Given the description of an element on the screen output the (x, y) to click on. 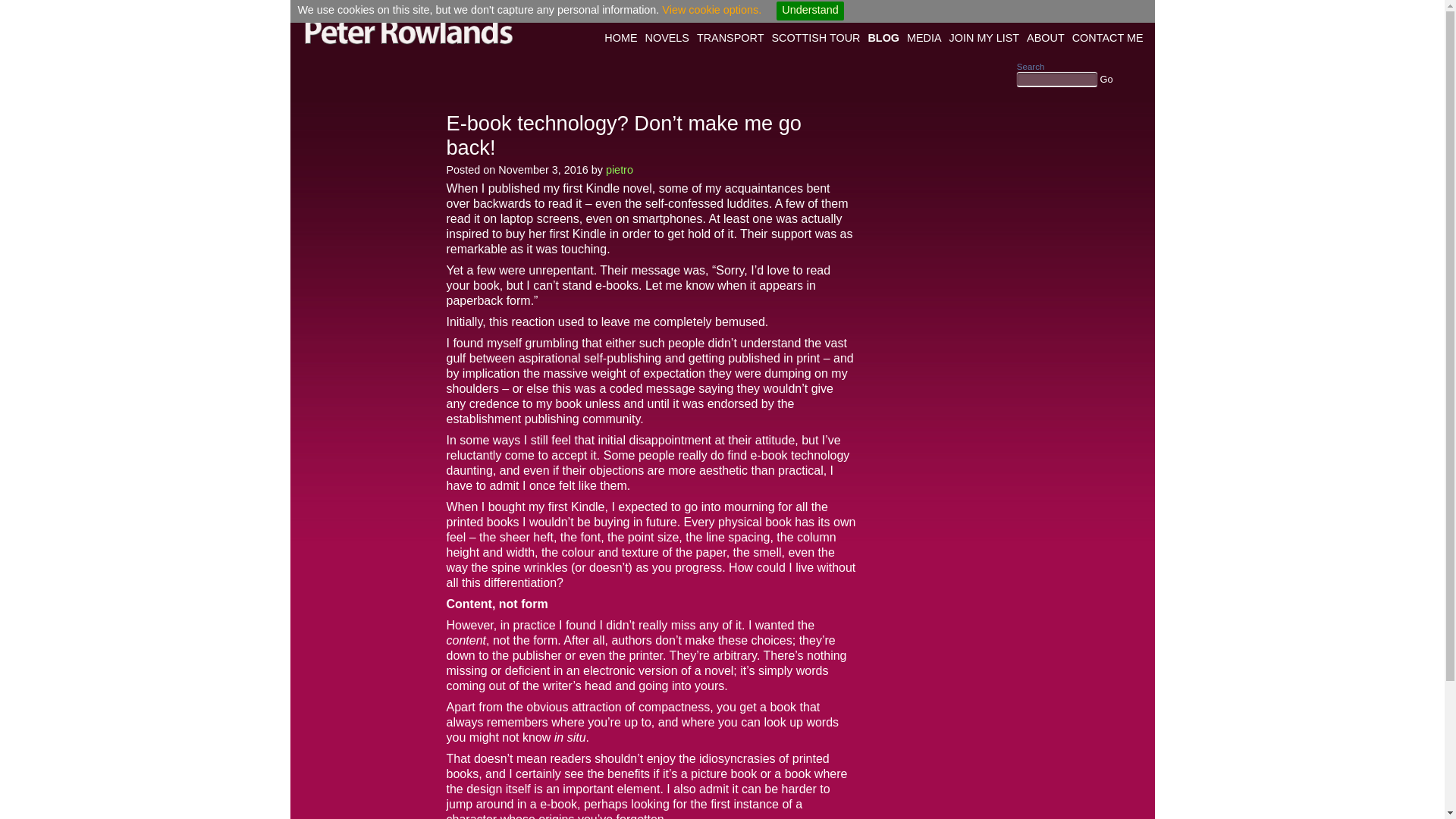
November 3, 2016 (542, 169)
HOME (619, 38)
MEDIA (923, 38)
SCOTTISH TOUR (815, 38)
JOIN MY LIST (983, 38)
12:23 pm (542, 169)
ABOUT (1045, 38)
TRANSPORT (730, 38)
CONTACT ME (1107, 38)
pietro (619, 169)
View cookie options. (710, 9)
BLOG (882, 38)
NOVELS (667, 38)
Go (1105, 79)
 Understand  (809, 10)
